Given the description of an element on the screen output the (x, y) to click on. 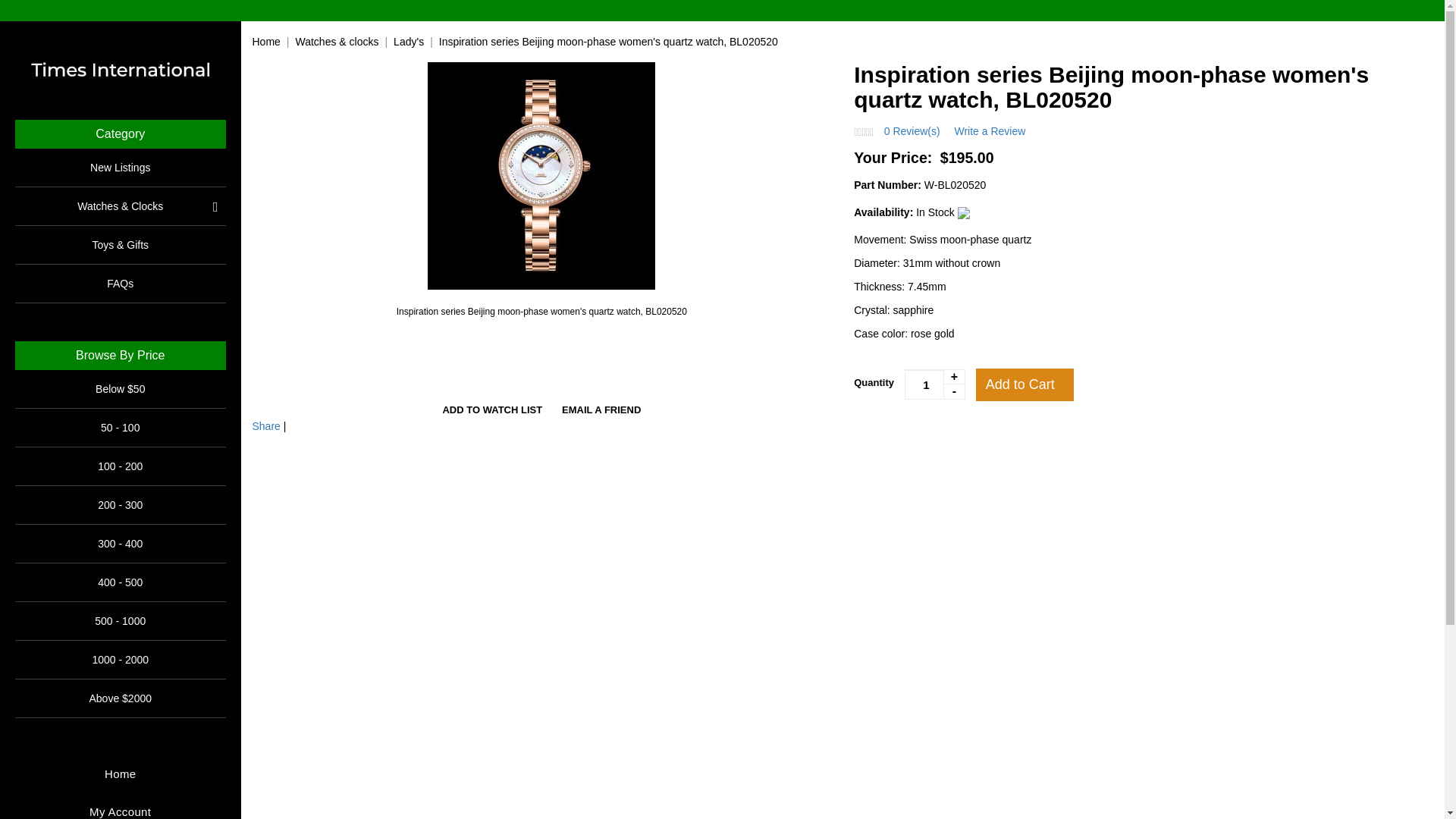
New Listings (119, 167)
1 (934, 384)
100 - 200 (120, 465)
200 - 300 (120, 504)
50 - 100 (119, 427)
300 - 400 (120, 543)
FAQs (119, 283)
